Given the description of an element on the screen output the (x, y) to click on. 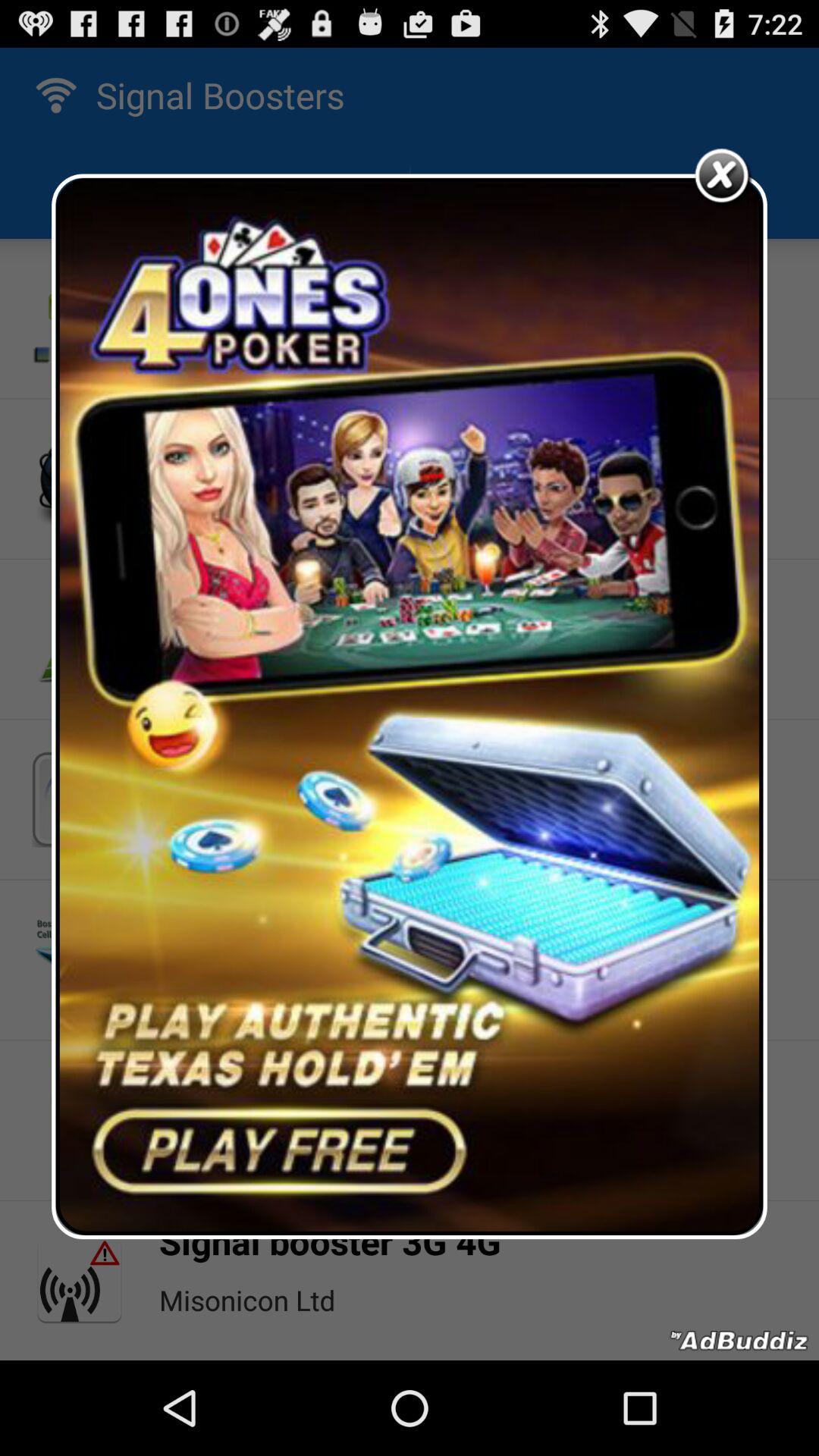
advertisement (409, 706)
